Given the description of an element on the screen output the (x, y) to click on. 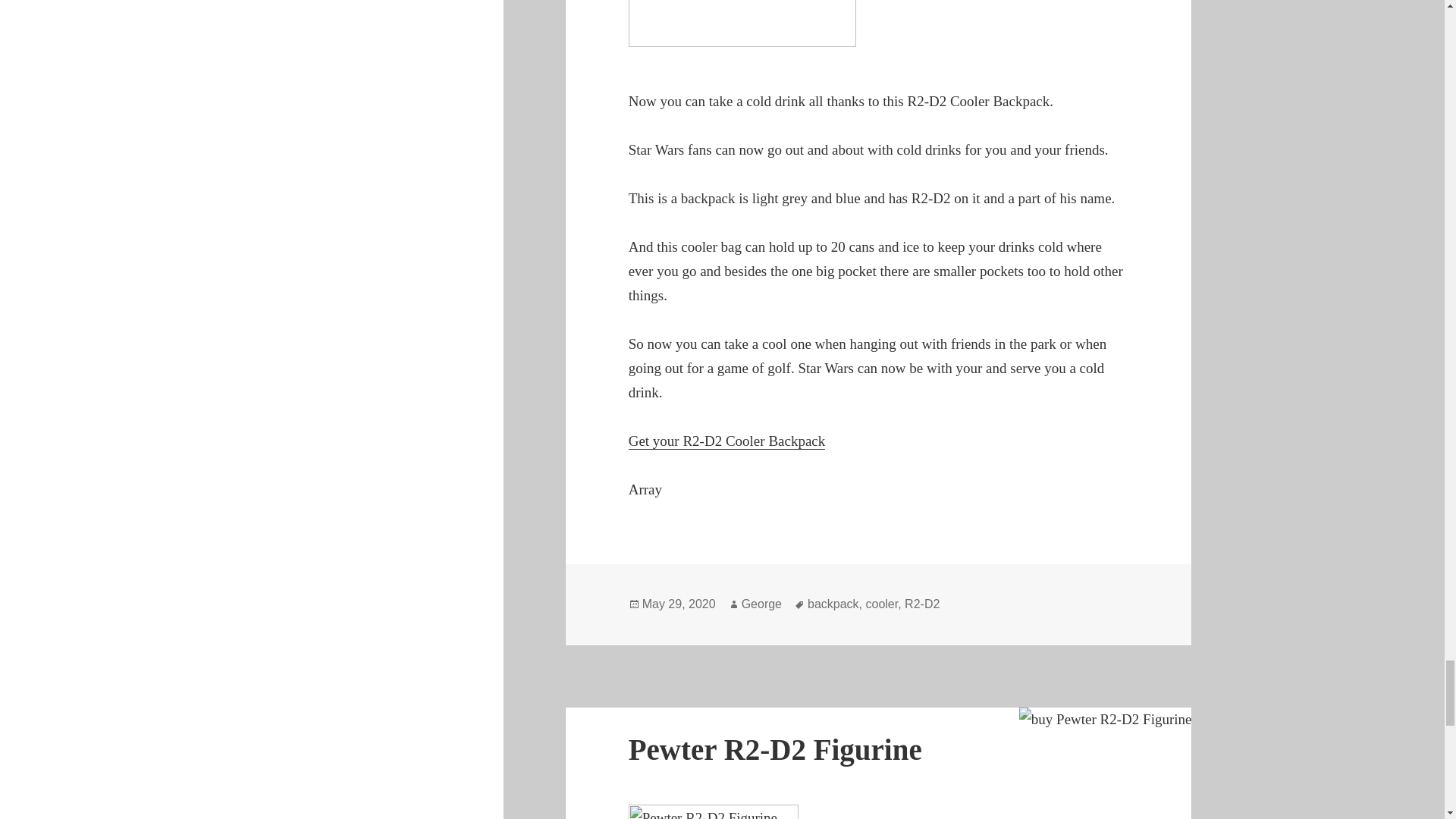
buy Pewter R2-D2 Figurine (1105, 719)
